Given the description of an element on the screen output the (x, y) to click on. 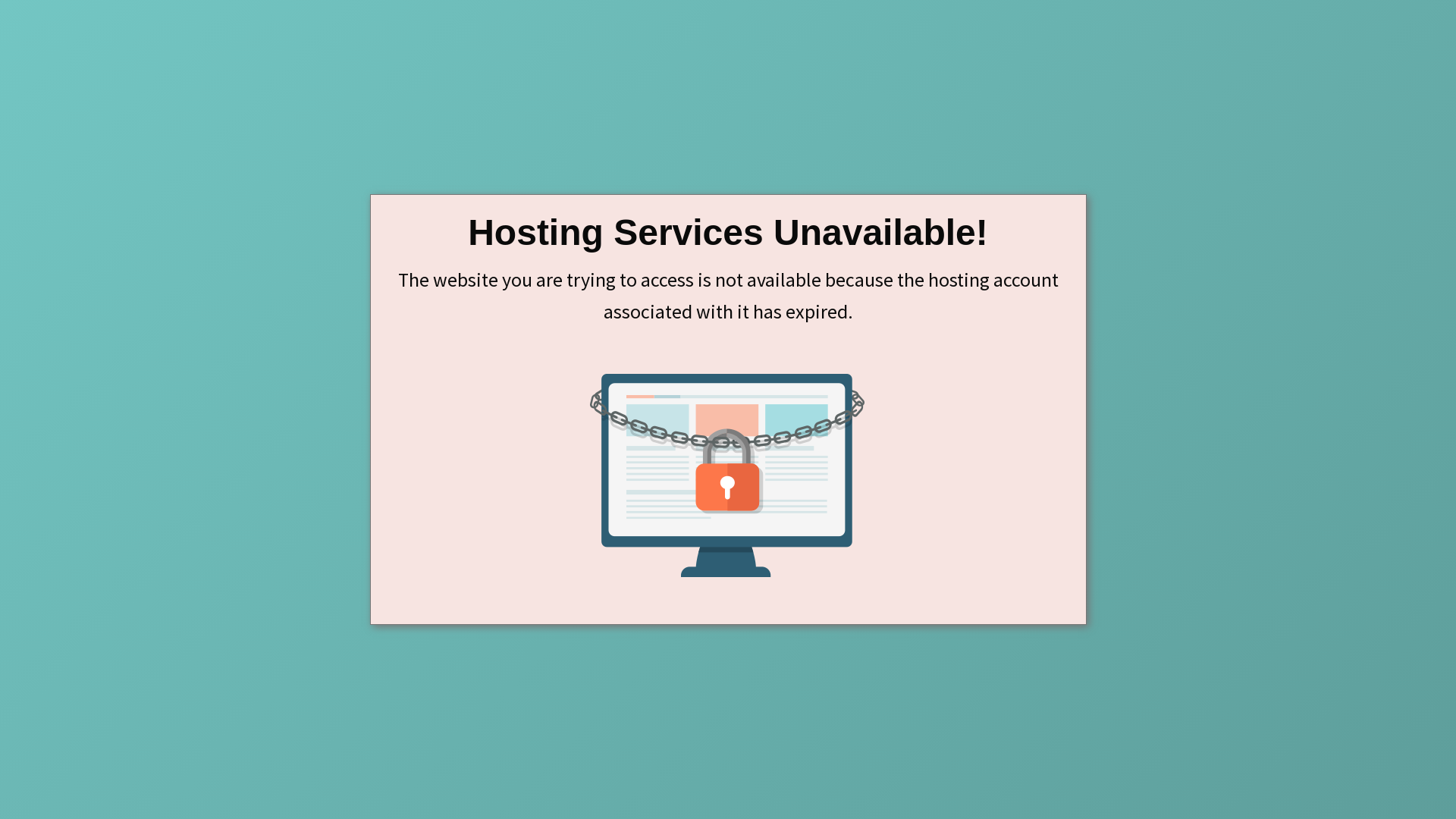
Hosting Services Unavailable Element type: hover (727, 474)
